Given the description of an element on the screen output the (x, y) to click on. 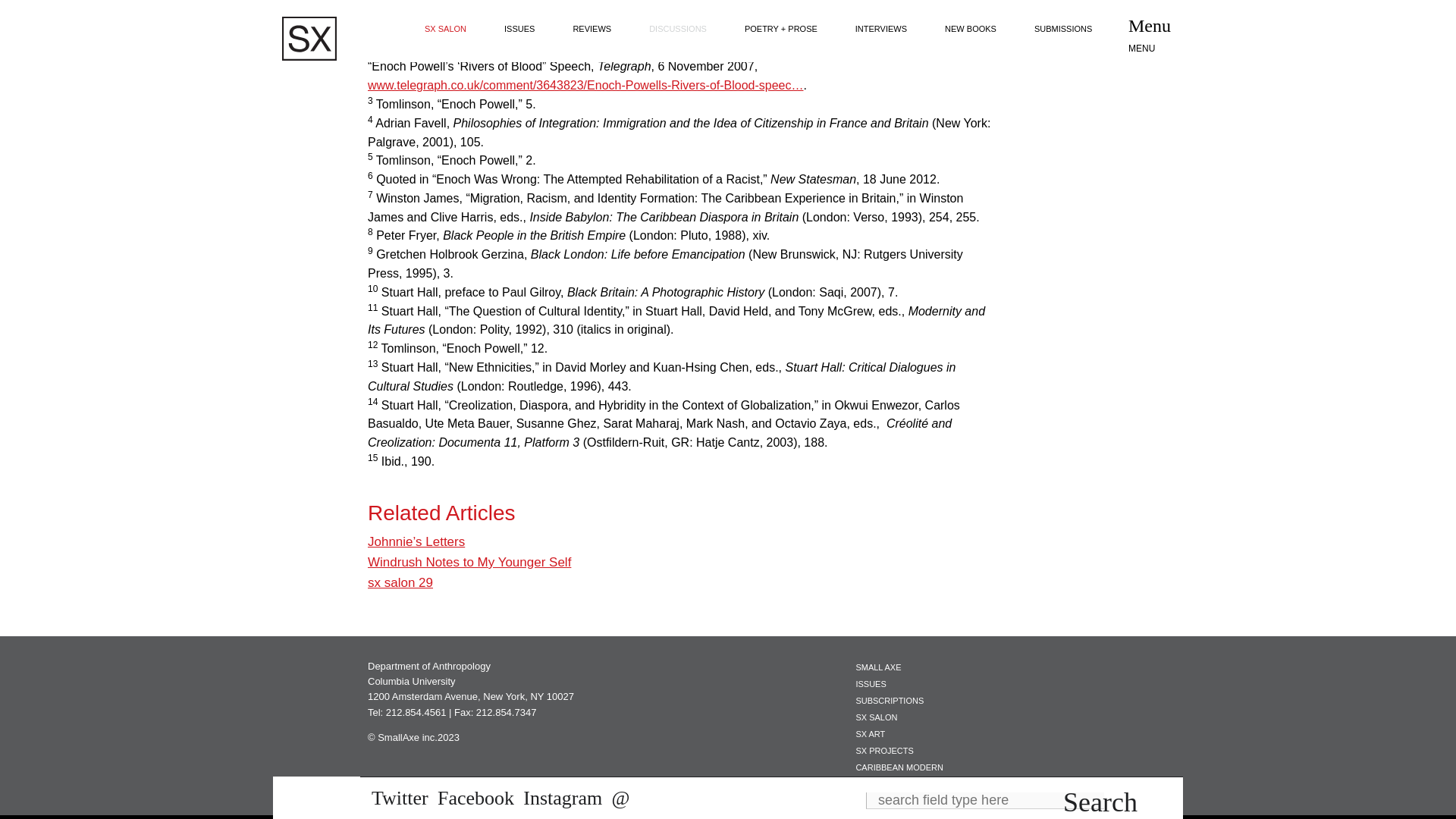
Windrush Notes to My Younger Self (469, 562)
ISSUES (870, 683)
SMALL AXE (878, 666)
SUBSCRIPTIONS (889, 700)
sx salon 29 (400, 582)
